Given the description of an element on the screen output the (x, y) to click on. 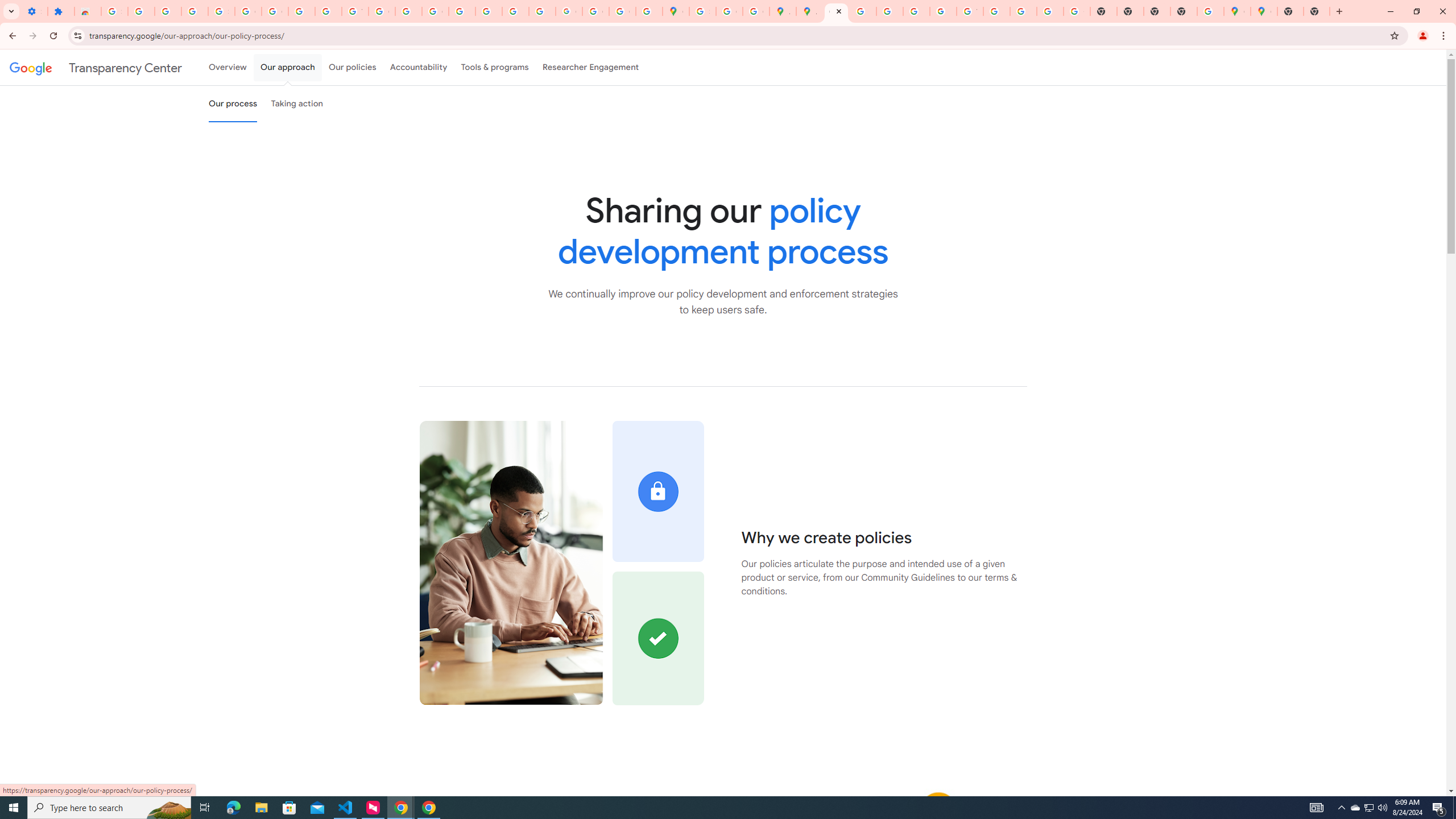
Researcher Engagement (590, 67)
Settings - On startup (34, 11)
New Tab (1316, 11)
YouTube (355, 11)
New Tab (1183, 11)
